Given the description of an element on the screen output the (x, y) to click on. 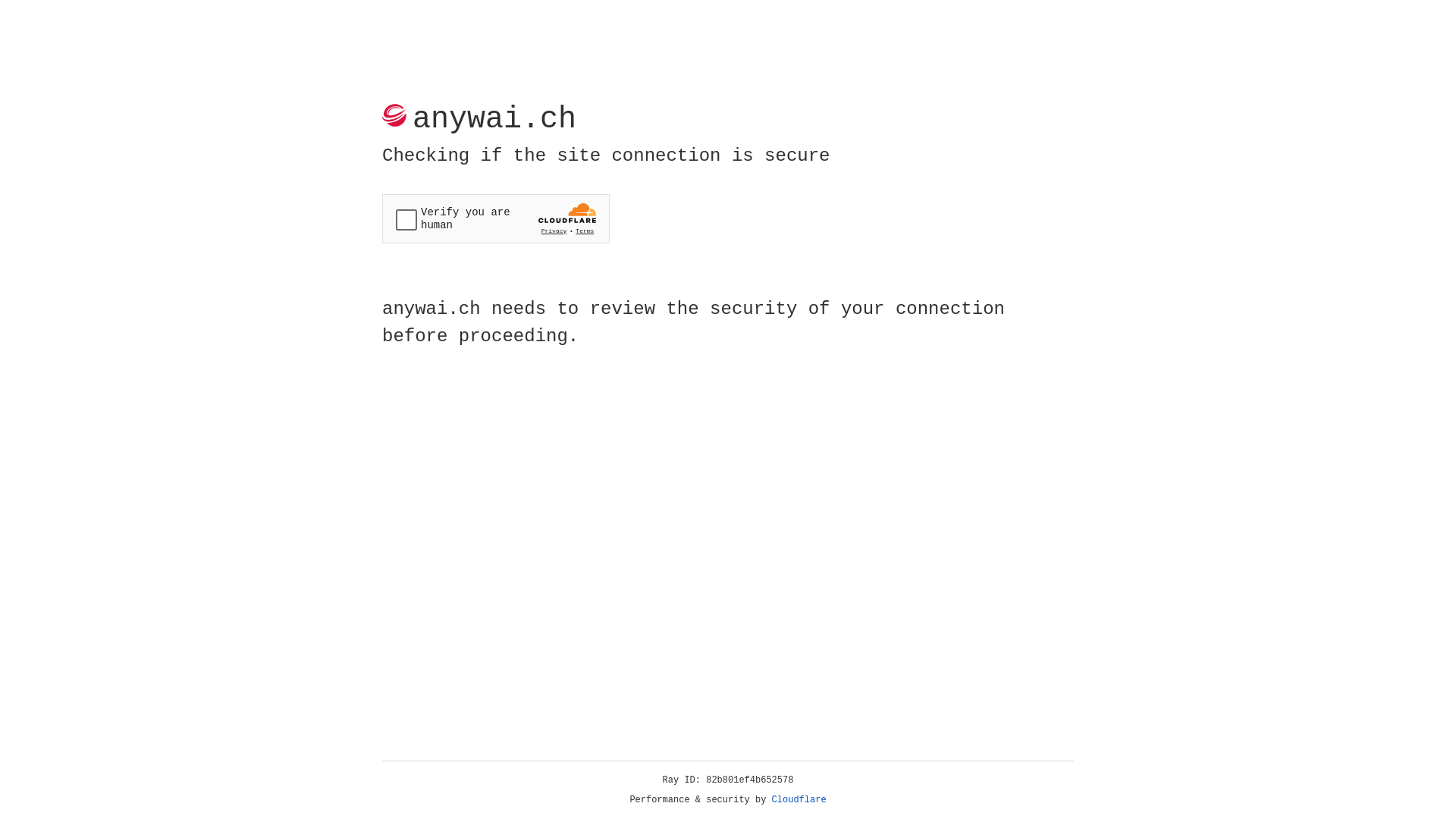
Widget containing a Cloudflare security challenge Element type: hover (495, 218)
Cloudflare Element type: text (798, 799)
